Given the description of an element on the screen output the (x, y) to click on. 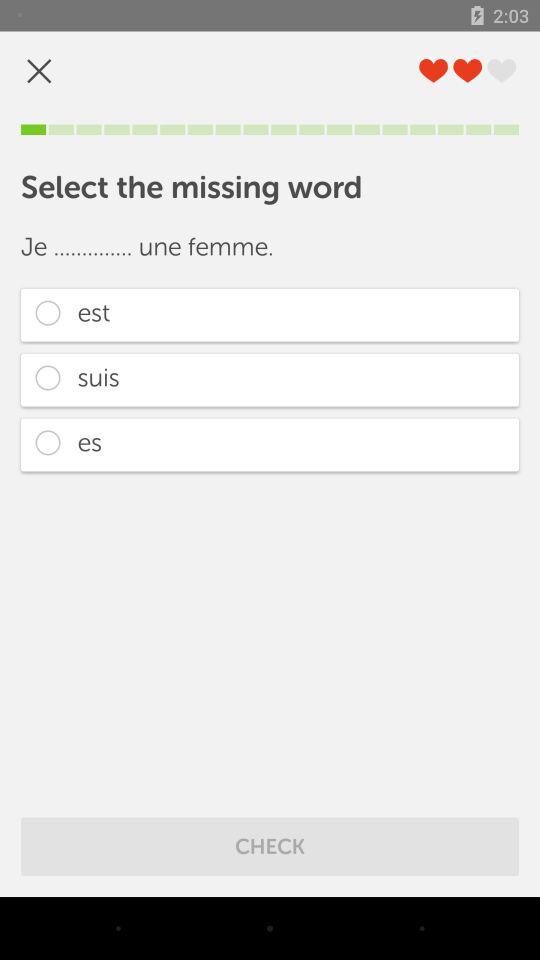
launch the icon above es (270, 379)
